Given the description of an element on the screen output the (x, y) to click on. 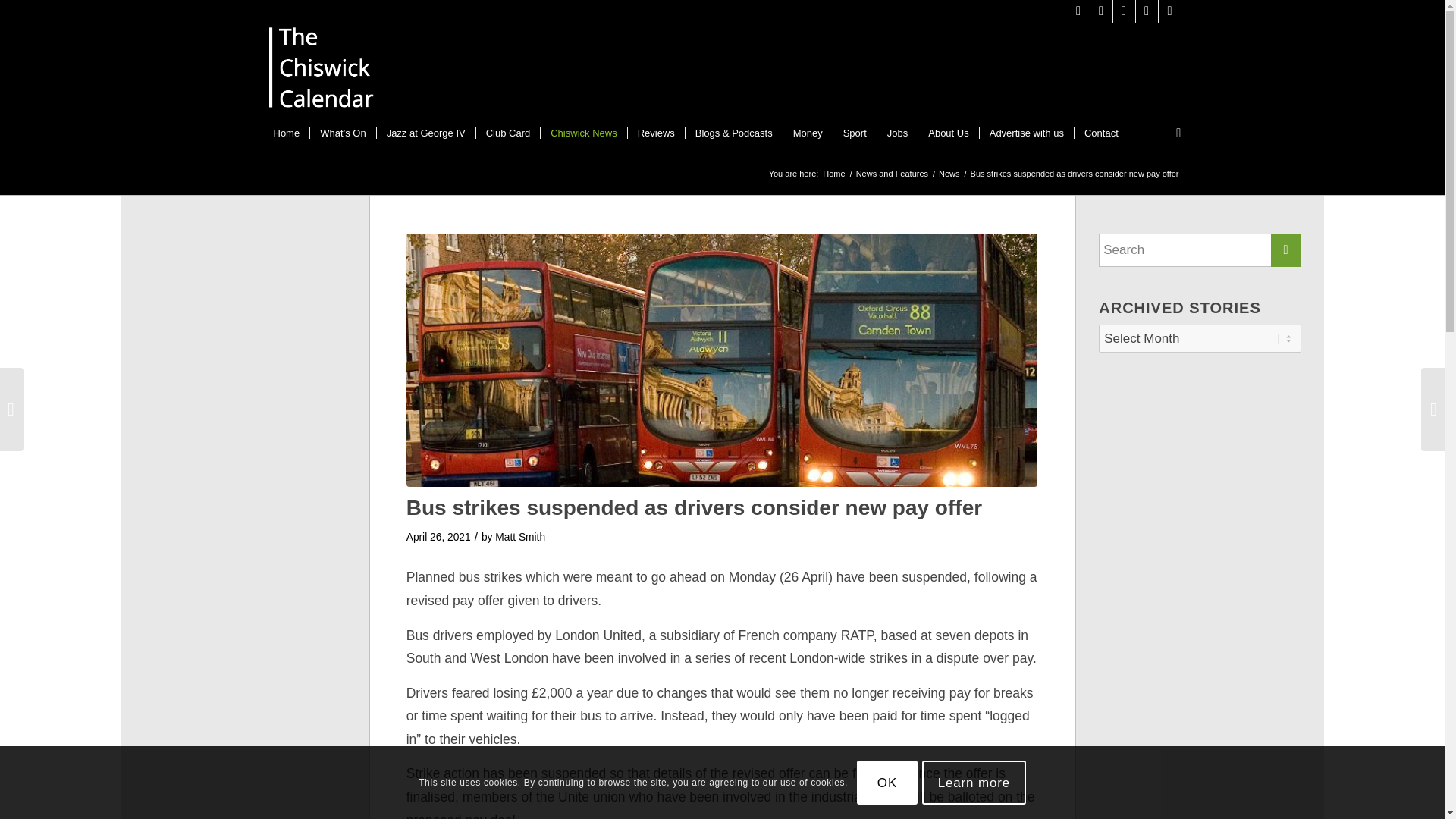
Home (286, 133)
Facebook (1124, 11)
TCC-white-on-white (321, 70)
X (1078, 11)
Youtube (1146, 11)
Instagram (1101, 11)
Mail (1169, 11)
